Given the description of an element on the screen output the (x, y) to click on. 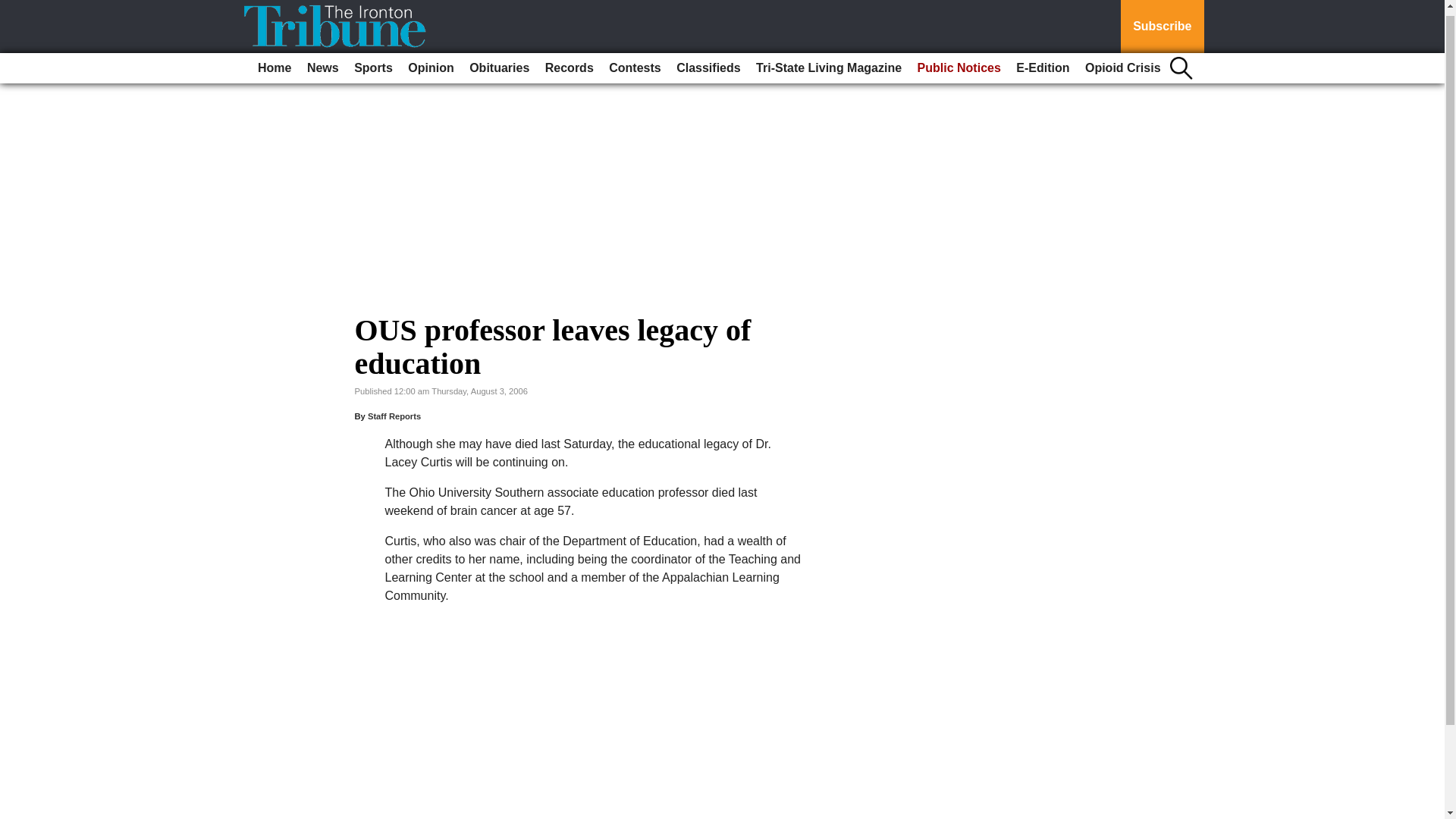
Records (568, 62)
Opinion (430, 62)
Classifieds (707, 62)
E-Edition (1042, 62)
Sports (372, 62)
Contests (634, 62)
News (323, 62)
Go (13, 6)
Home (274, 62)
Staff Reports (394, 415)
